Given the description of an element on the screen output the (x, y) to click on. 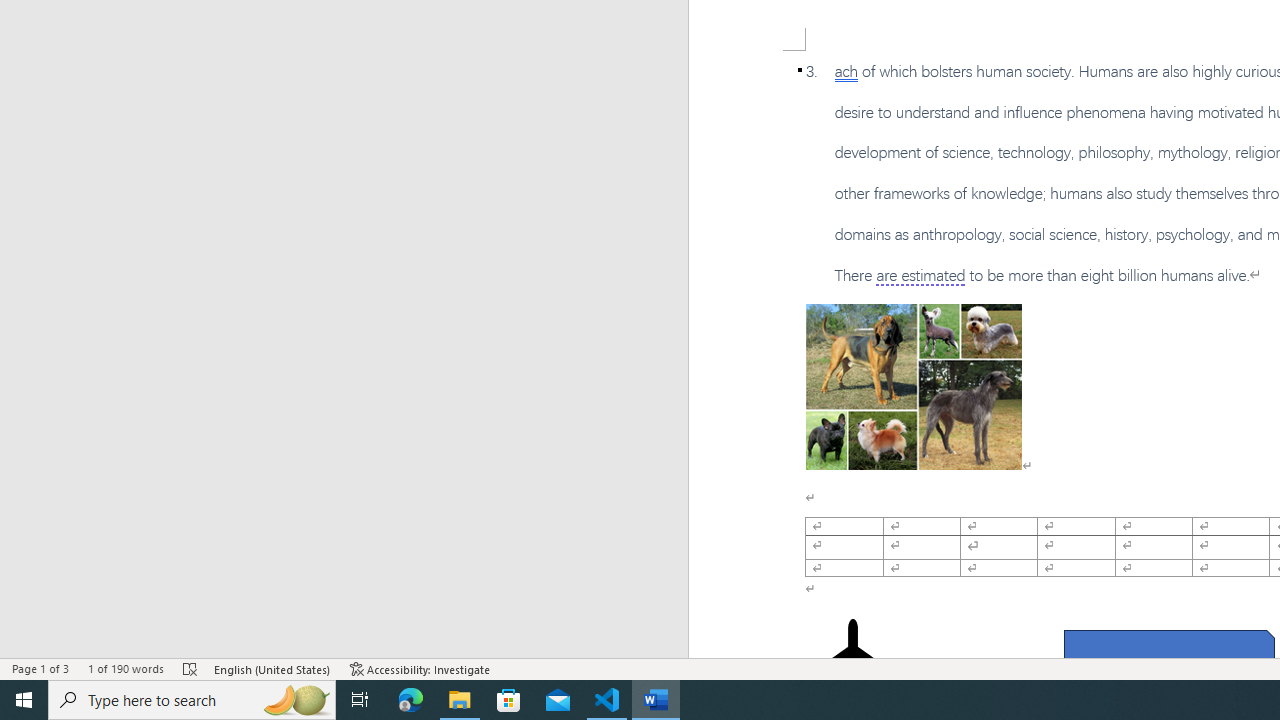
Airplane with solid fill (852, 657)
Page Number Page 1 of 3 (39, 668)
Rectangle: Diagonal Corners Snipped 2 (1168, 653)
